Given the description of an element on the screen output the (x, y) to click on. 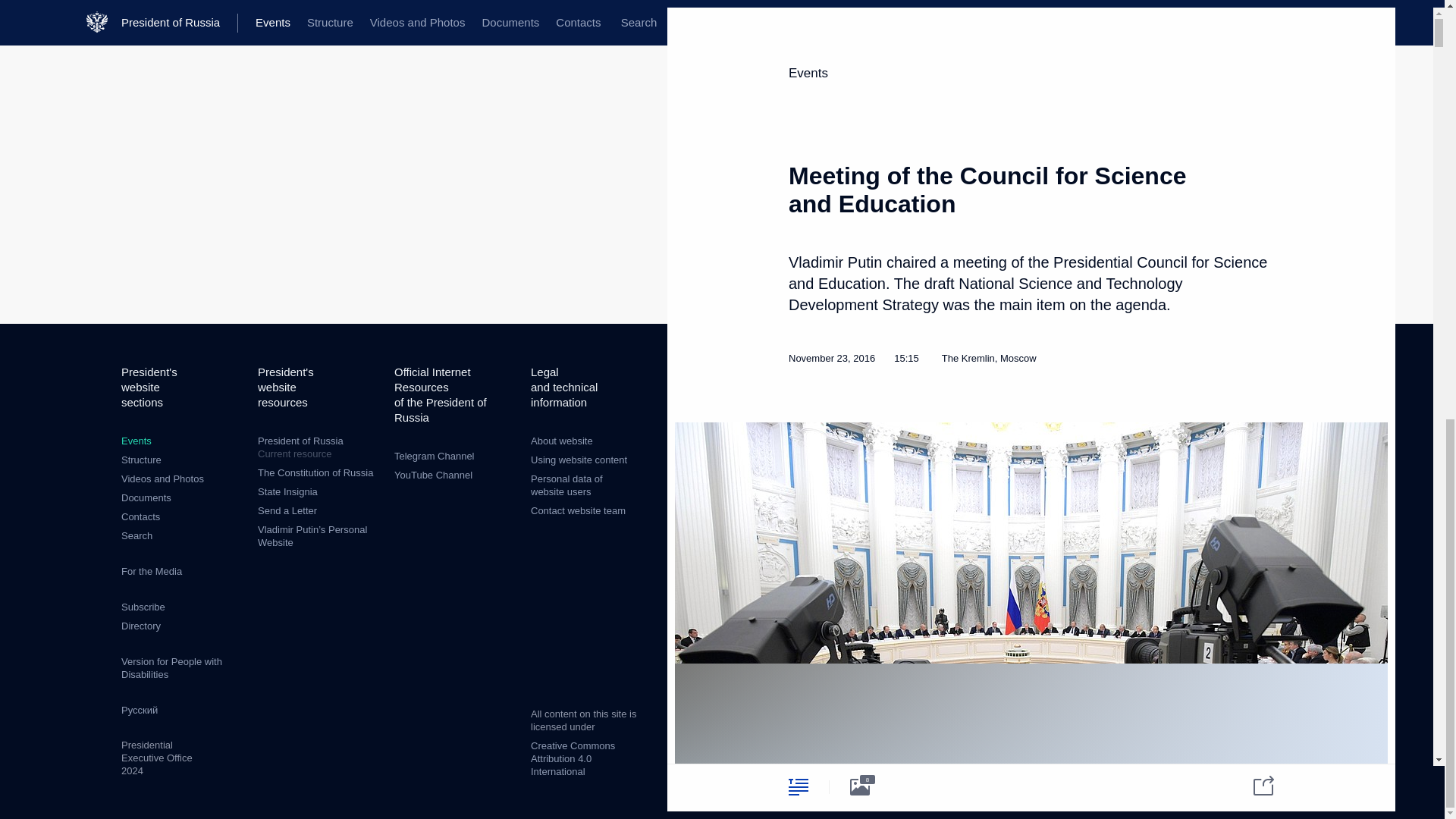
Directory (140, 625)
Structure (140, 460)
Personal data of website users (566, 485)
Contacts (140, 516)
News of Council for Science and Education (1203, 453)
Send a Letter (287, 510)
About website (561, 440)
Telegram Channel (434, 455)
Events (135, 440)
Creative Commons Attribution 4.0 International (572, 758)
